Given the description of an element on the screen output the (x, y) to click on. 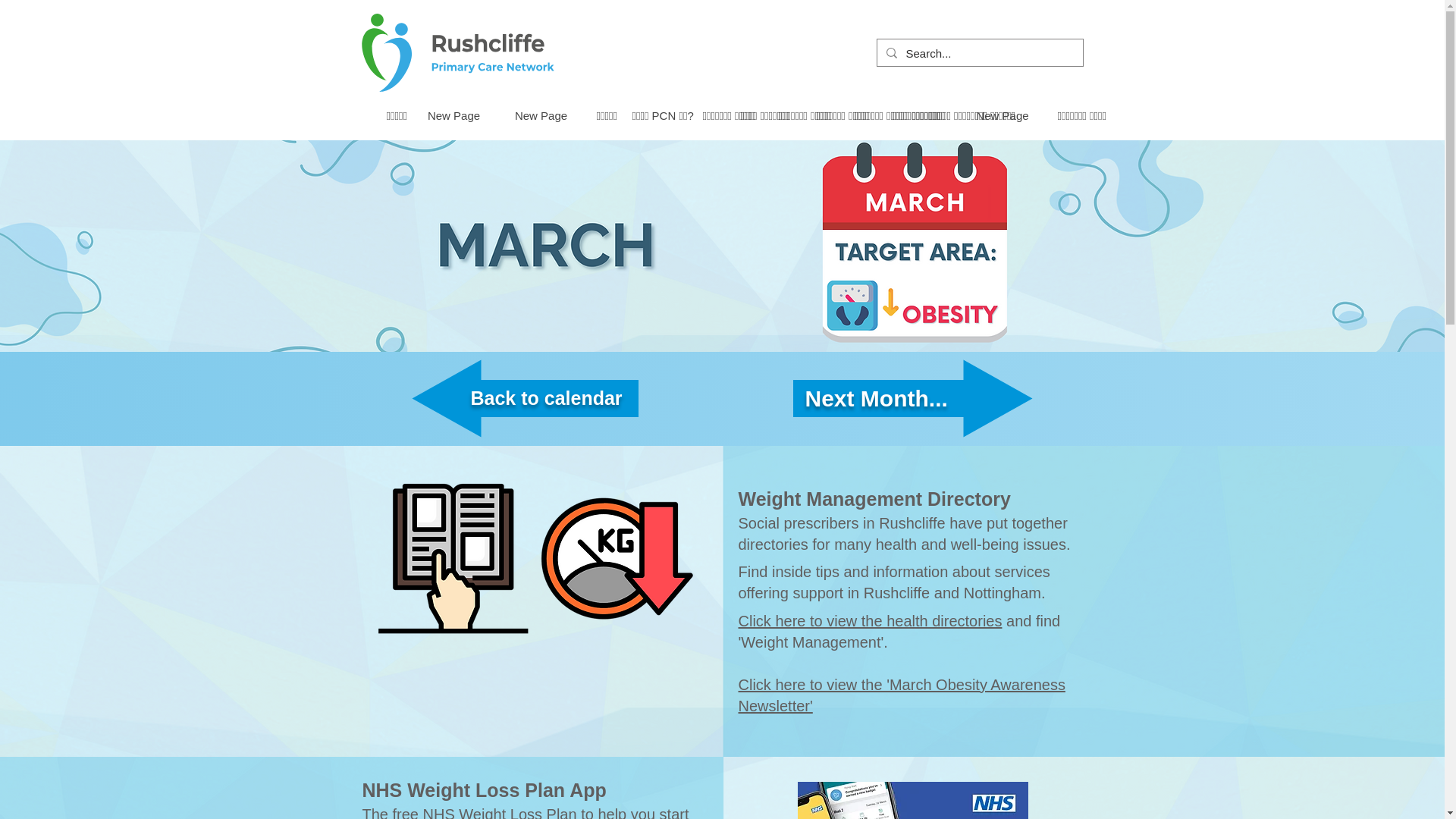
New Page (452, 115)
New Page (1001, 115)
New Page (541, 115)
